Given the description of an element on the screen output the (x, y) to click on. 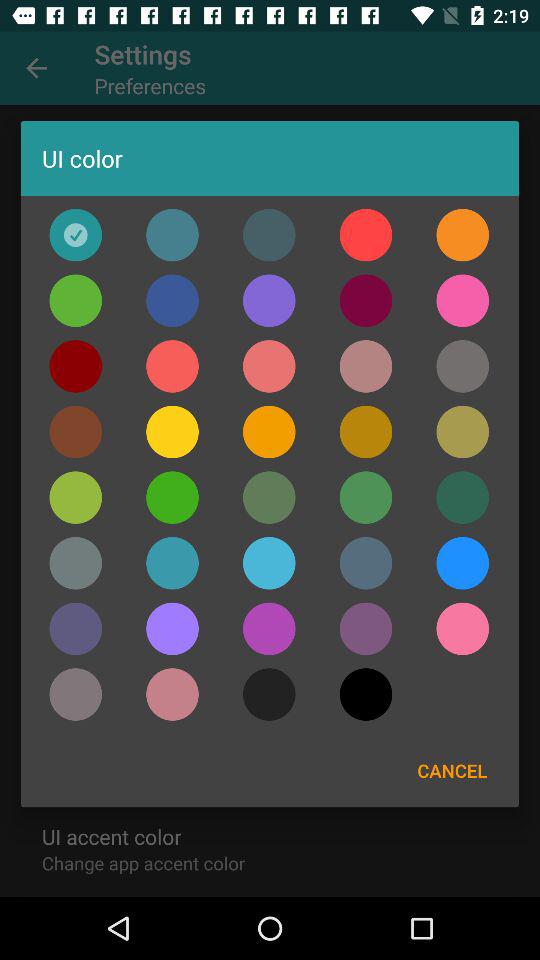
press light blue circle (269, 563)
